Given the description of an element on the screen output the (x, y) to click on. 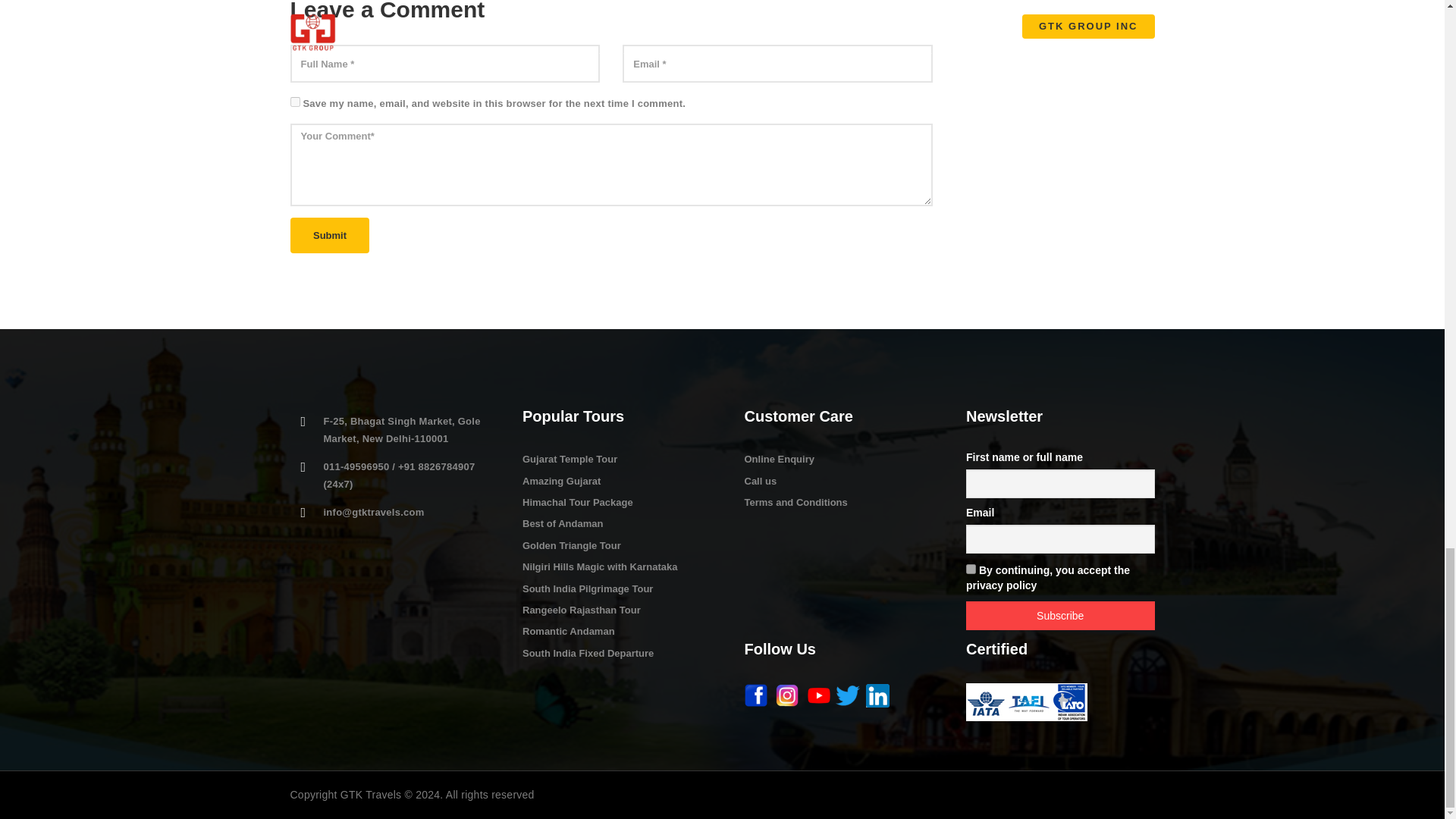
Amazing Gujarat (560, 480)
yes (294, 102)
Submit (328, 235)
Nilgiri Hills Magic with Karnataka (599, 566)
Subscribe (1060, 615)
Gujarat Temple Tour (569, 459)
Best of Andaman (562, 523)
Himachal Tour Package (577, 501)
on (970, 569)
Golden Triangle Tour (571, 545)
